Given the description of an element on the screen output the (x, y) to click on. 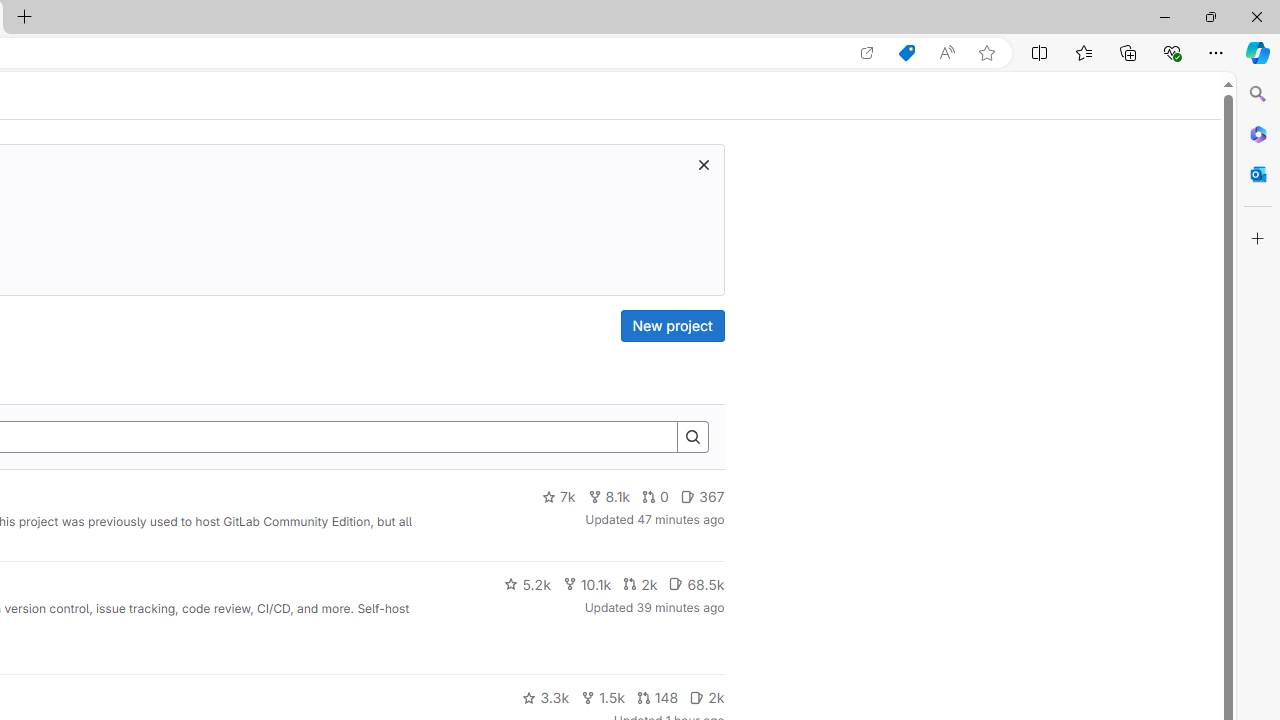
Class: s14 gl-mr-2 (697, 696)
1.5k (602, 697)
Class: s16 gl-icon gl-button-icon  (703, 164)
367 (701, 497)
New project (671, 326)
Shopping in Microsoft Edge (906, 53)
